Given the description of an element on the screen output the (x, y) to click on. 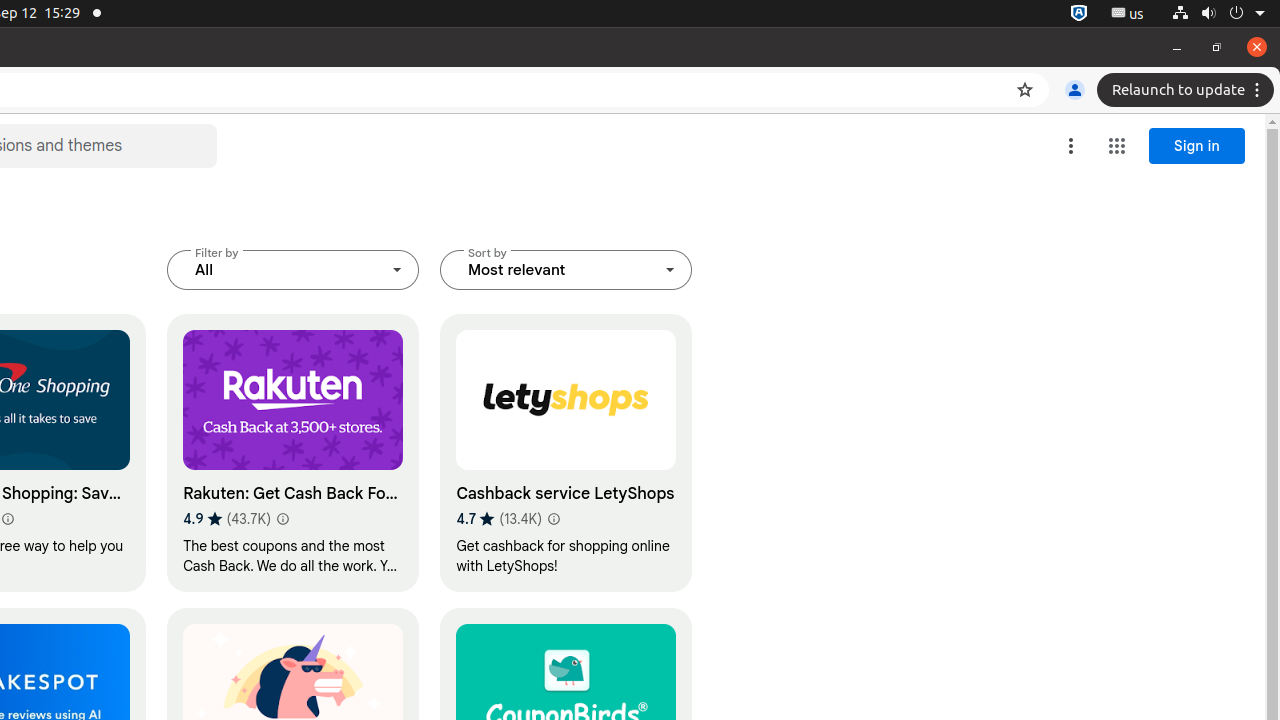
System Element type: menu (1218, 13)
